Given the description of an element on the screen output the (x, y) to click on. 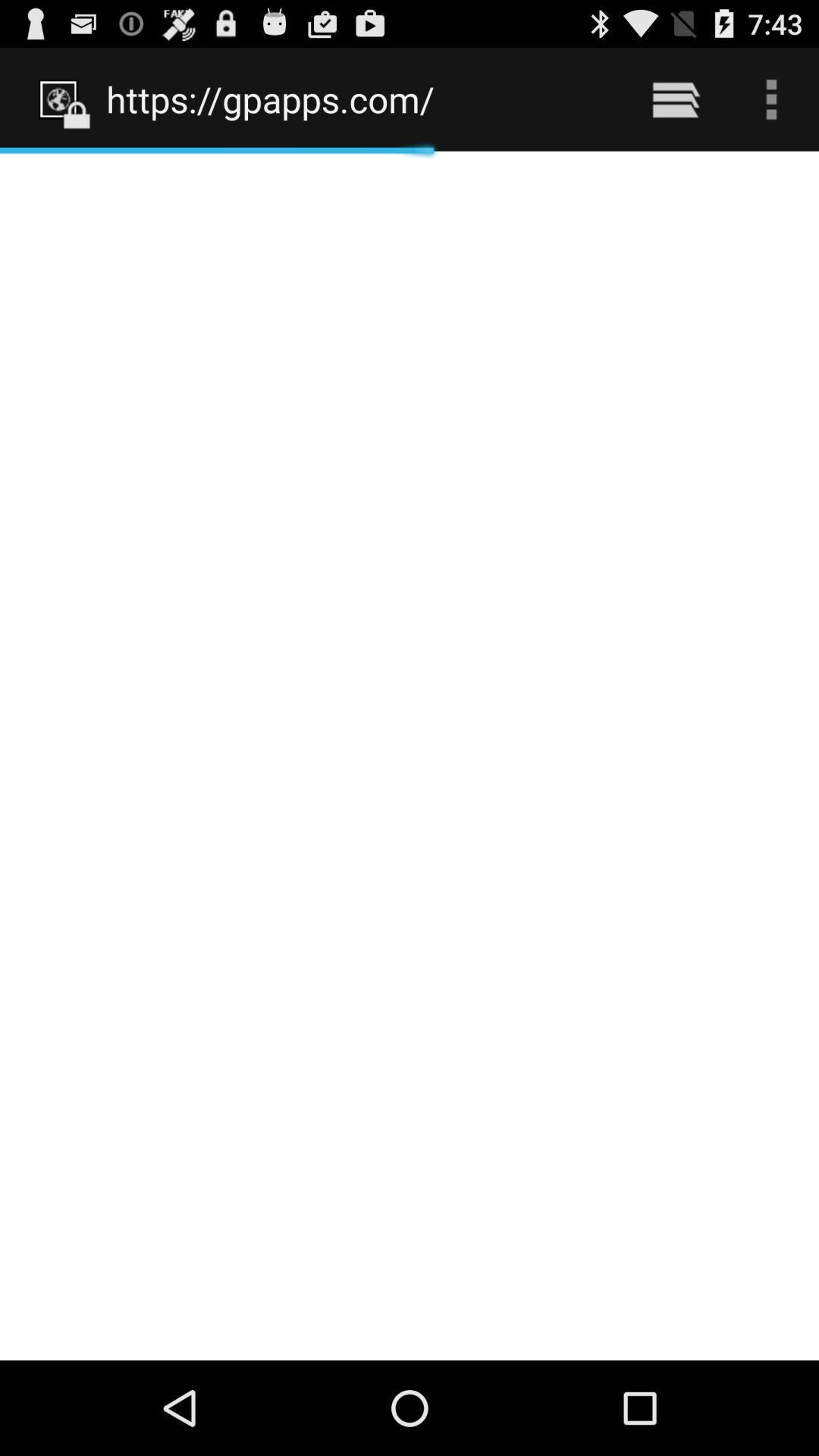
press the icon next to https://gpapps.com/ item (675, 99)
